Given the description of an element on the screen output the (x, y) to click on. 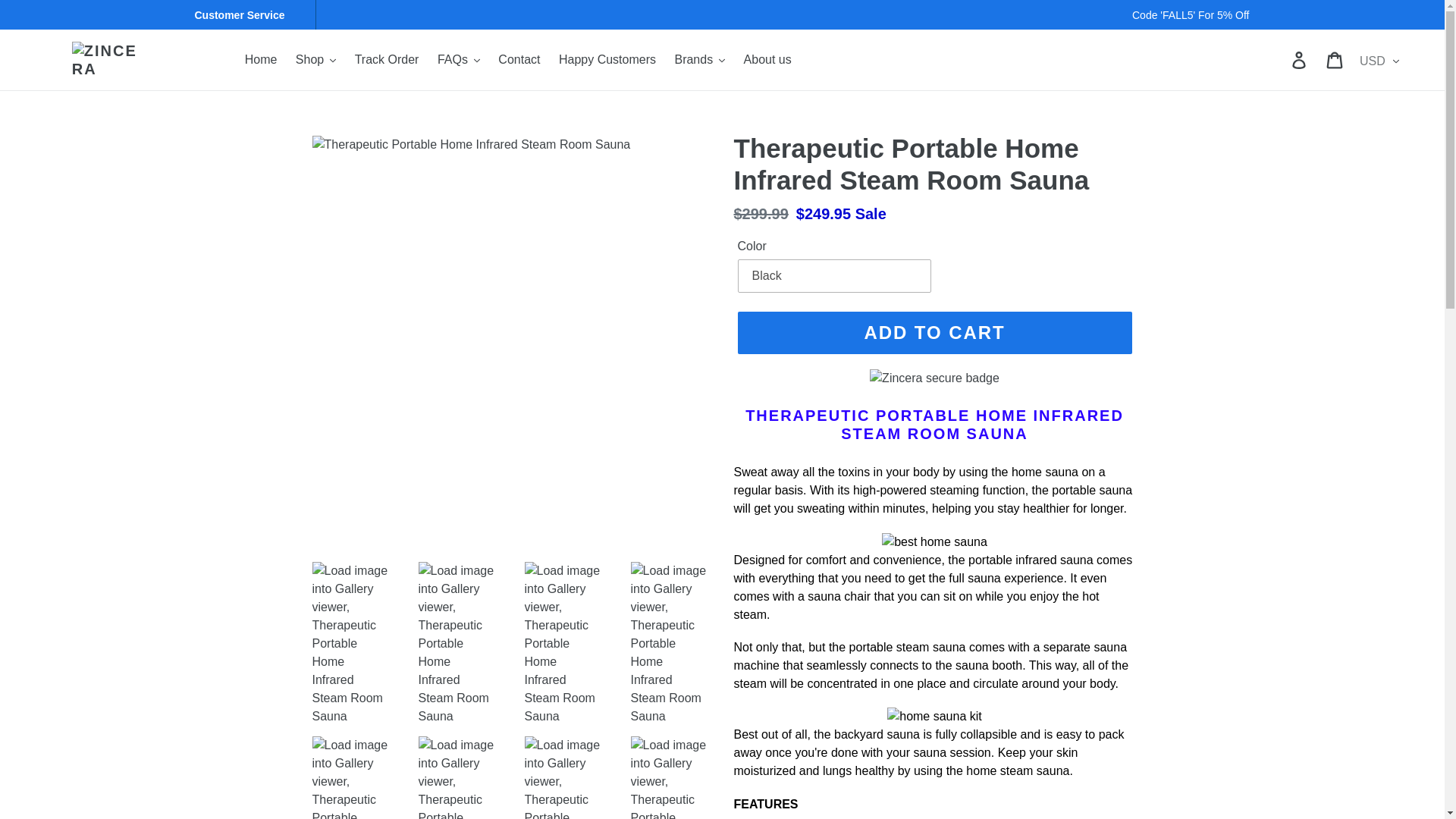
Customer Service (245, 15)
Contact (518, 59)
Track Order (386, 59)
Home (261, 59)
Zincera is secured by Shopify (933, 377)
Happy Customers (607, 59)
